Given the description of an element on the screen output the (x, y) to click on. 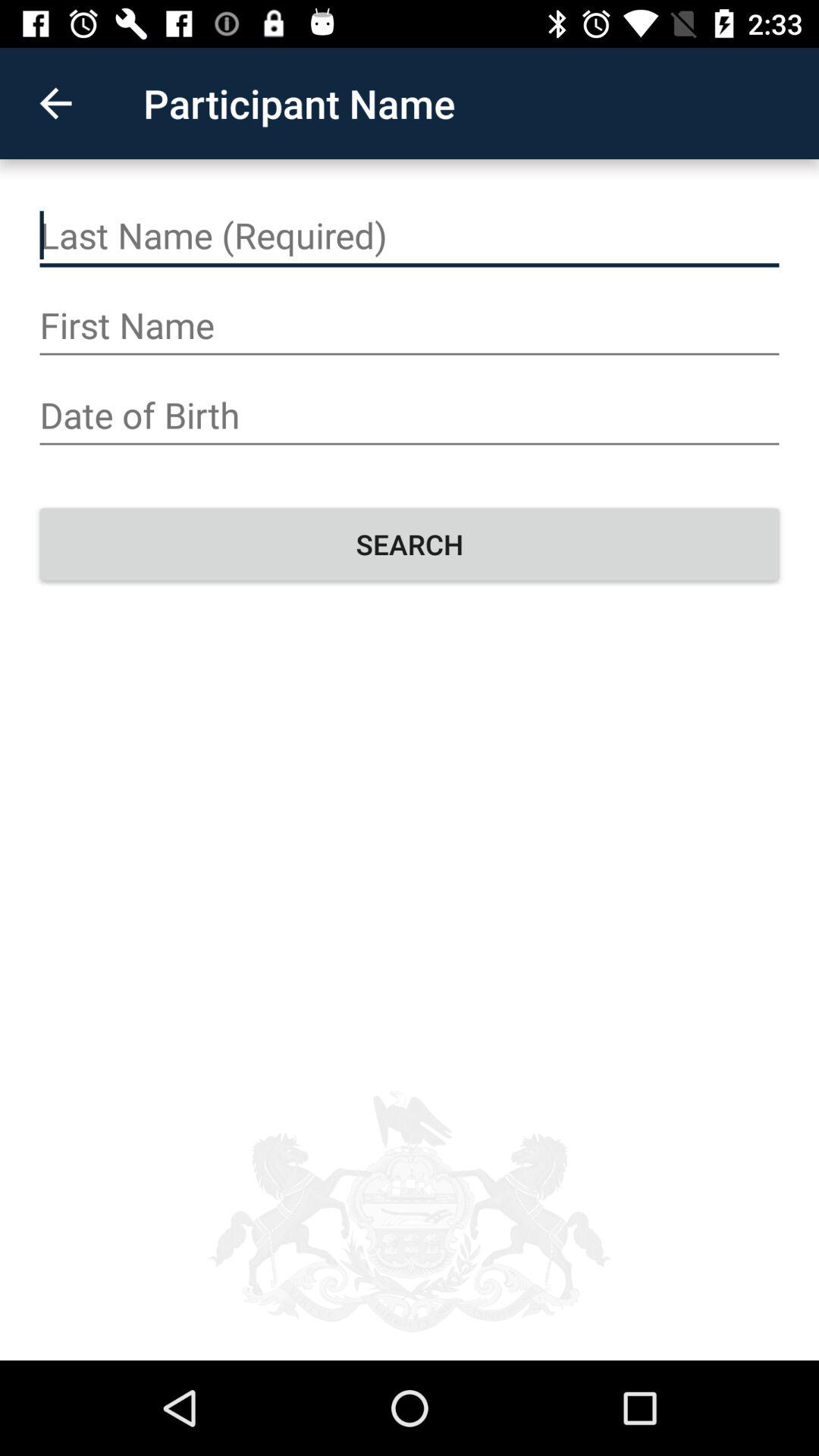
text area for first name (409, 325)
